Given the description of an element on the screen output the (x, y) to click on. 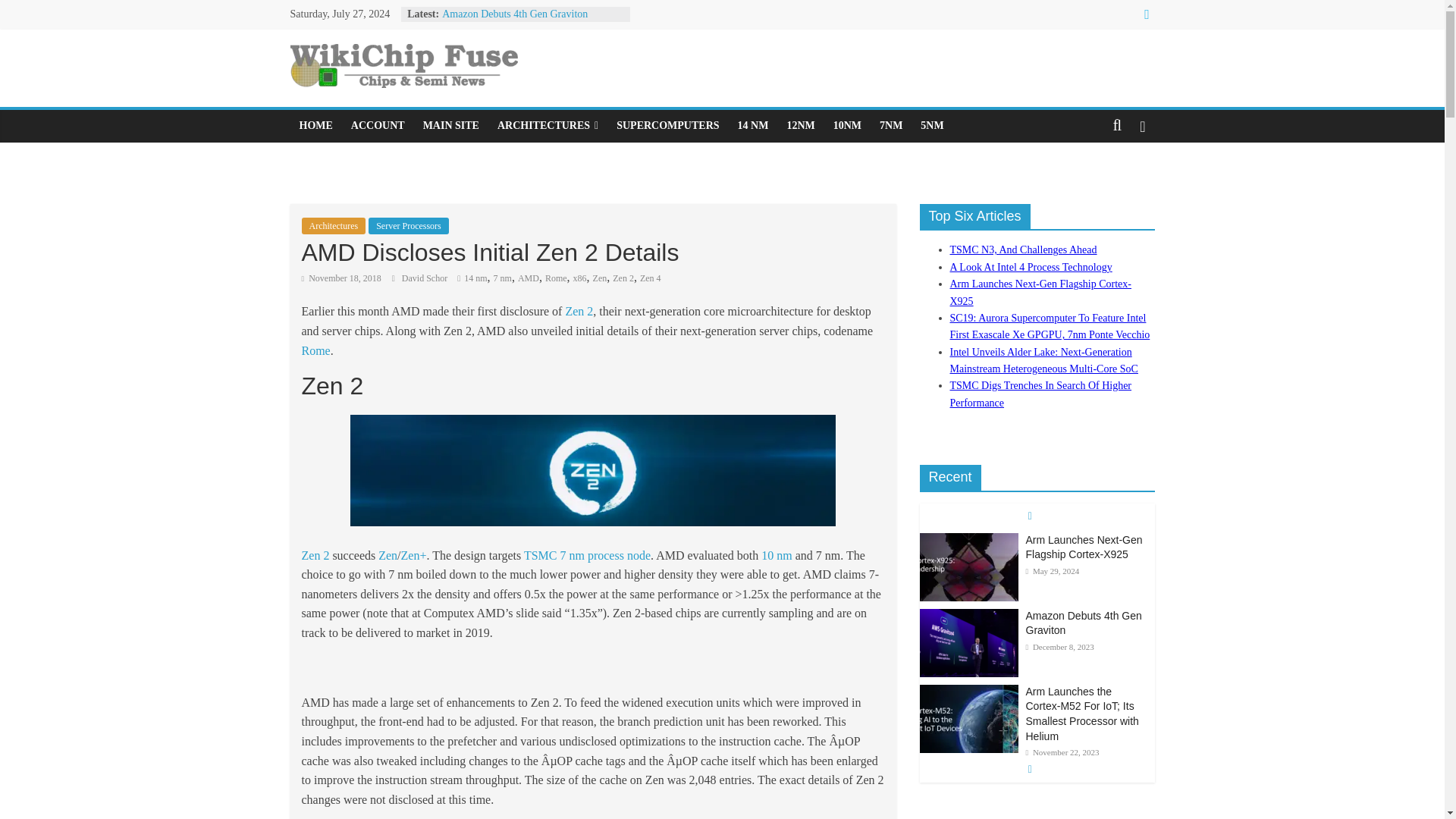
10NM (847, 125)
Server Processors (408, 225)
14 NM (753, 125)
HOME (314, 125)
MAIN SITE (450, 125)
AMD (528, 277)
7NM (890, 125)
Arm Launches Next-Gen Flagship Cortex-X925 (967, 541)
ACCOUNT (377, 125)
x86 (579, 277)
November 18, 2018 (341, 277)
5NM (931, 125)
SUPERCOMPUTERS (667, 125)
David Schor (425, 277)
Architectures (333, 225)
